Given the description of an element on the screen output the (x, y) to click on. 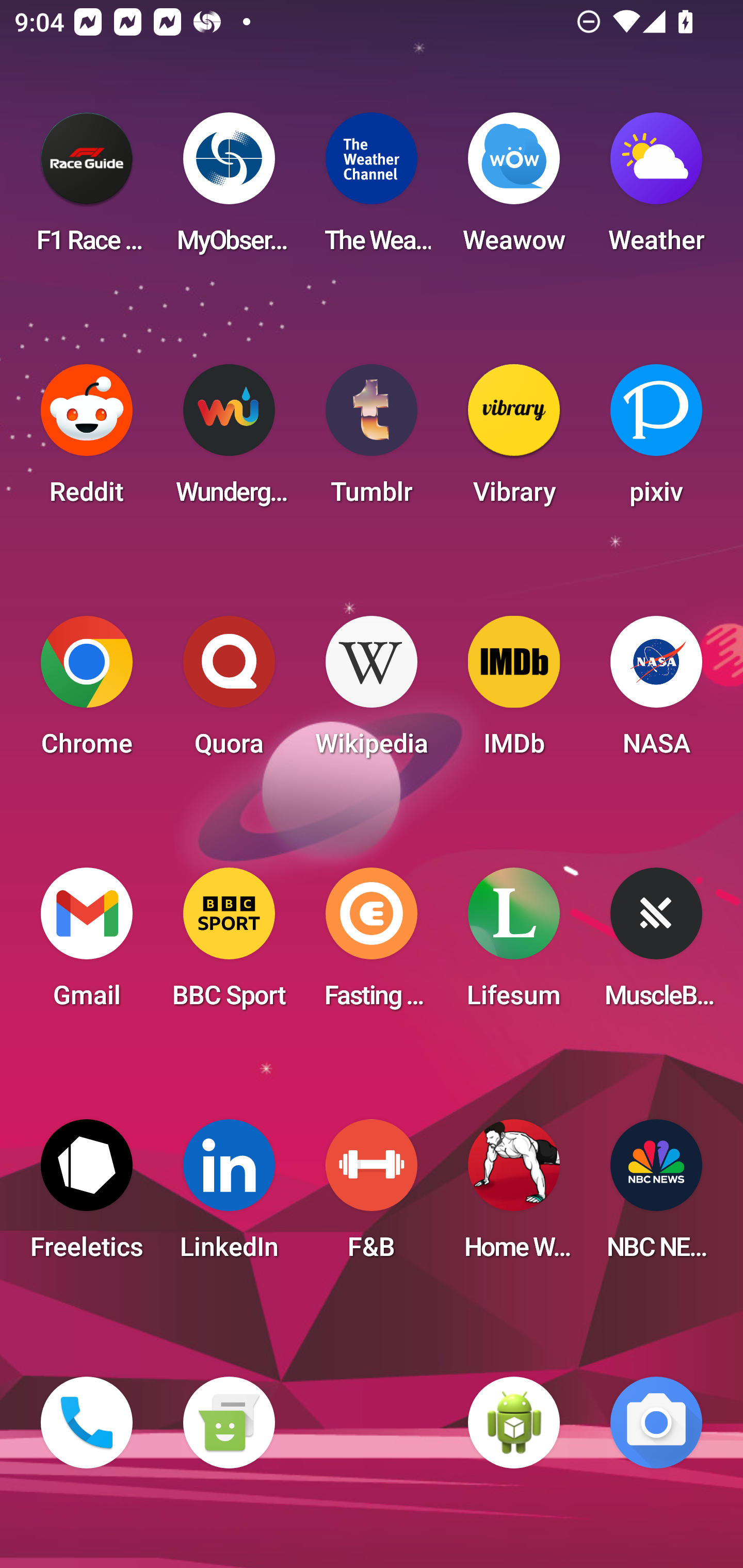
F1 Race Guide (86, 188)
MyObservatory (228, 188)
The Weather Channel (371, 188)
Weawow (513, 188)
Weather (656, 188)
Reddit (86, 440)
Wunderground (228, 440)
Tumblr (371, 440)
Vibrary (513, 440)
pixiv (656, 440)
Chrome (86, 692)
Quora (228, 692)
Wikipedia (371, 692)
IMDb (513, 692)
NASA (656, 692)
Gmail (86, 943)
BBC Sport (228, 943)
Fasting Coach (371, 943)
Lifesum (513, 943)
MuscleBooster (656, 943)
Freeletics (86, 1195)
LinkedIn (228, 1195)
F&B (371, 1195)
Home Workout (513, 1195)
NBC NEWS (656, 1195)
Phone (86, 1422)
Messaging (228, 1422)
WebView Browser Tester (513, 1422)
Camera (656, 1422)
